Given the description of an element on the screen output the (x, y) to click on. 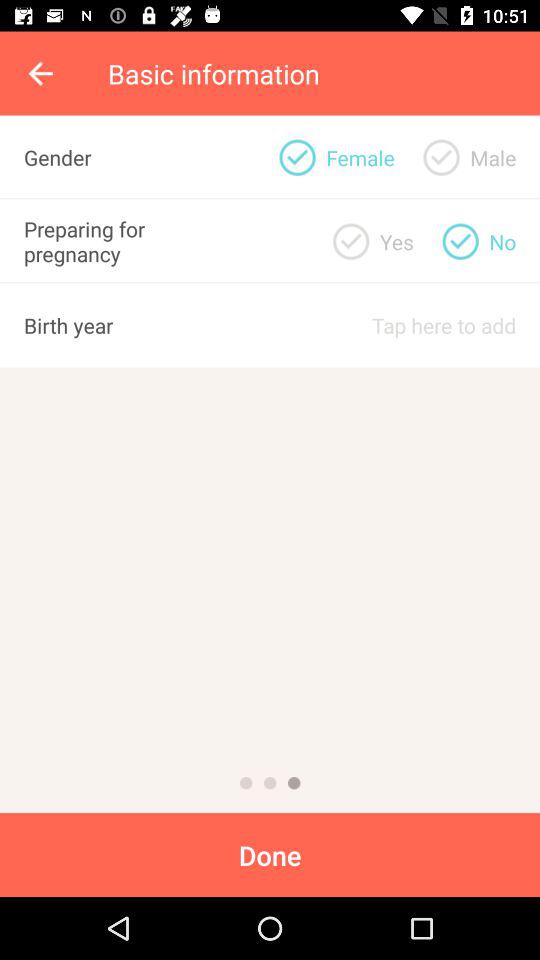
turn off icon to the right of yes item (493, 157)
